Given the description of an element on the screen output the (x, y) to click on. 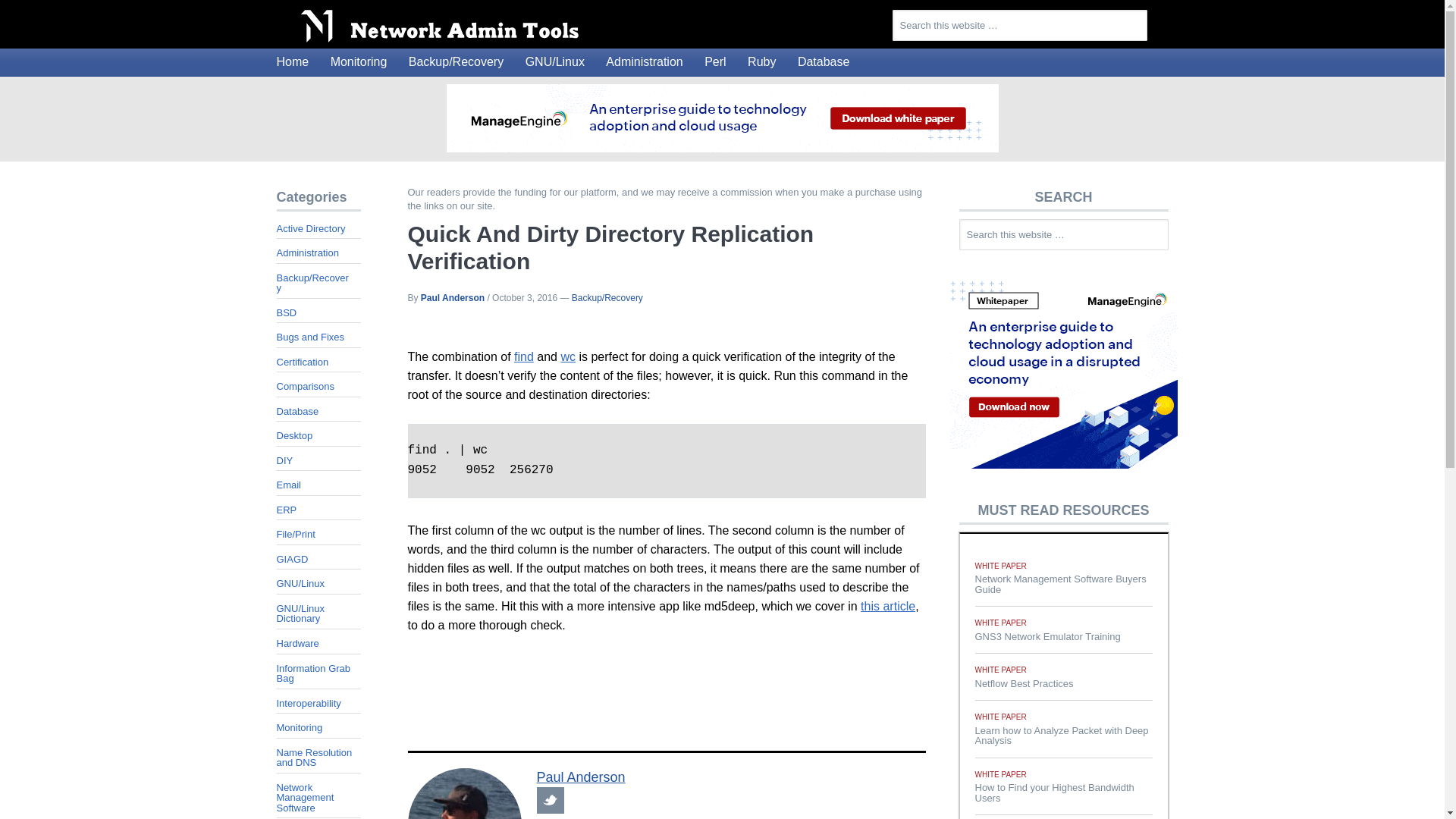
Search (1156, 18)
Administration (643, 62)
Search (1177, 228)
Paul Anderson (581, 776)
Home (291, 62)
Paul Anderson (452, 297)
Search (1156, 18)
Ruby (761, 62)
Monitoring (358, 62)
wc (567, 356)
this article (887, 605)
Perl (715, 62)
find (523, 356)
Database (824, 62)
